Given the description of an element on the screen output the (x, y) to click on. 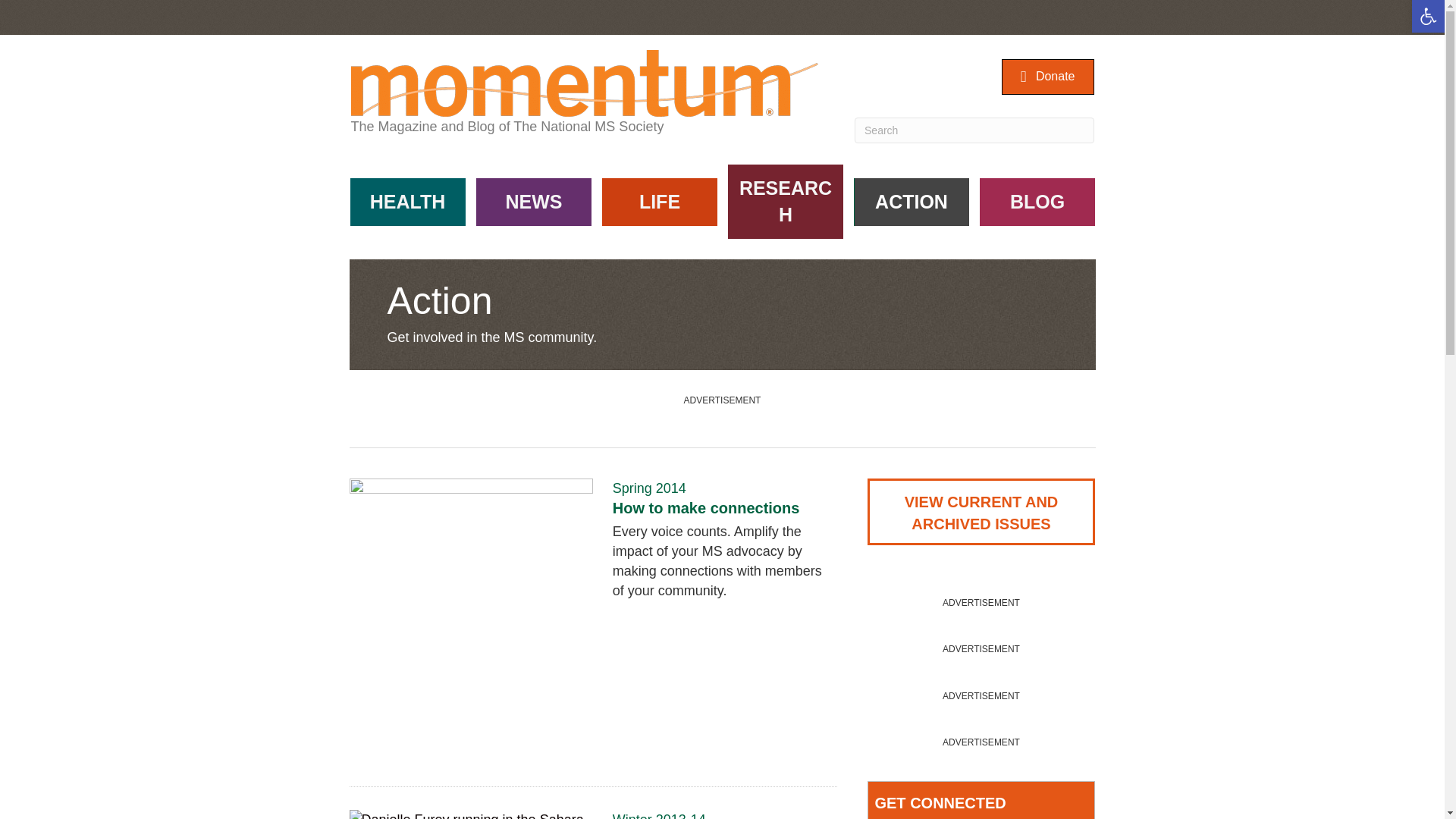
How to make connections (705, 507)
RESEARCH (785, 201)
Accessibility Tools (1428, 16)
default-logo (583, 83)
NEWS (533, 202)
Type and press Enter to search. (973, 130)
How to make connections (705, 507)
Spring 2014 (648, 488)
HEALTH (407, 202)
Winter 2013-14 (659, 815)
